Given the description of an element on the screen output the (x, y) to click on. 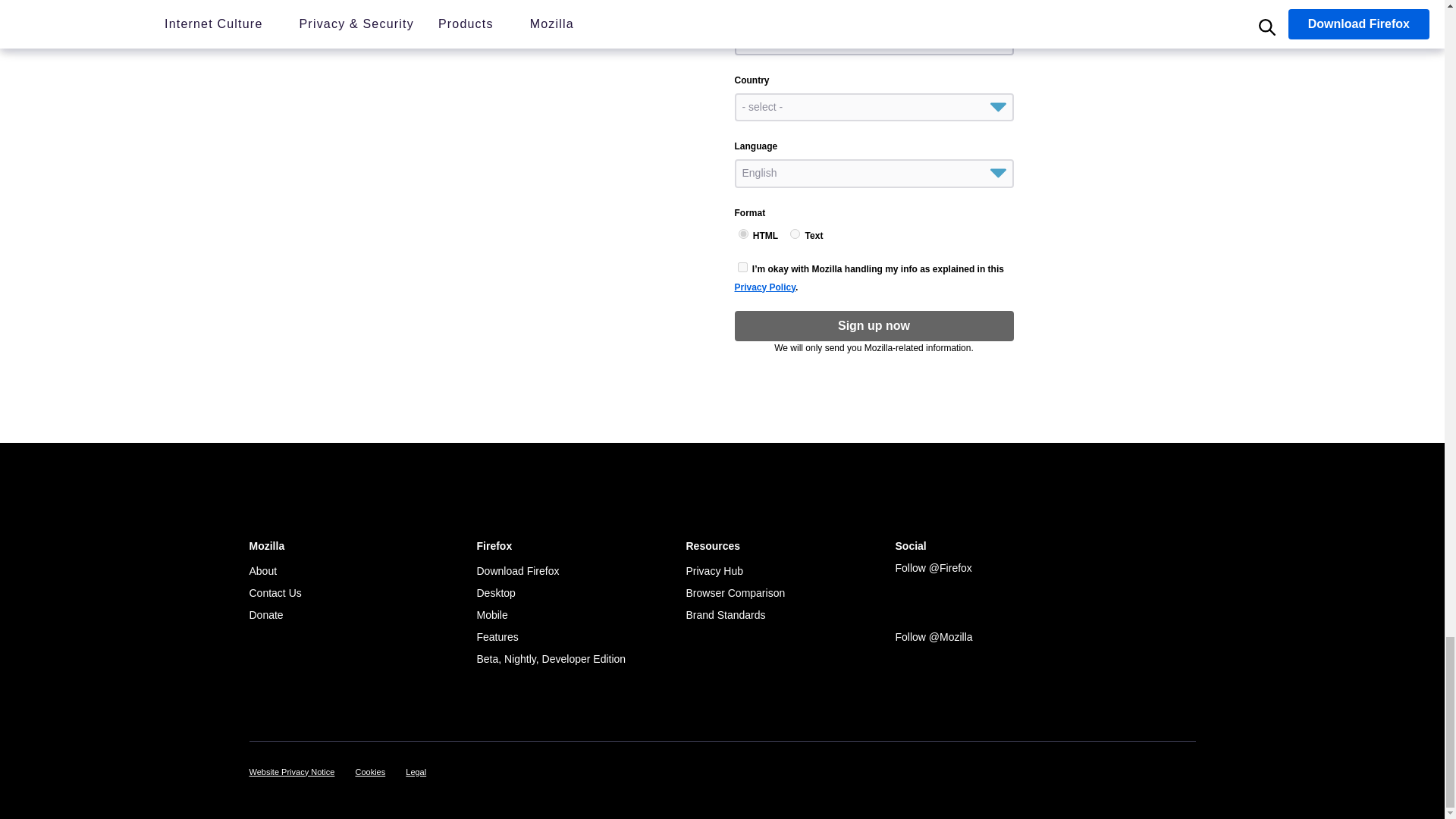
T (794, 234)
Contact Us (274, 592)
Sign up now (873, 326)
H (743, 234)
Privacy Policy (763, 286)
Mozilla (286, 491)
on (741, 266)
About (262, 571)
